Given the description of an element on the screen output the (x, y) to click on. 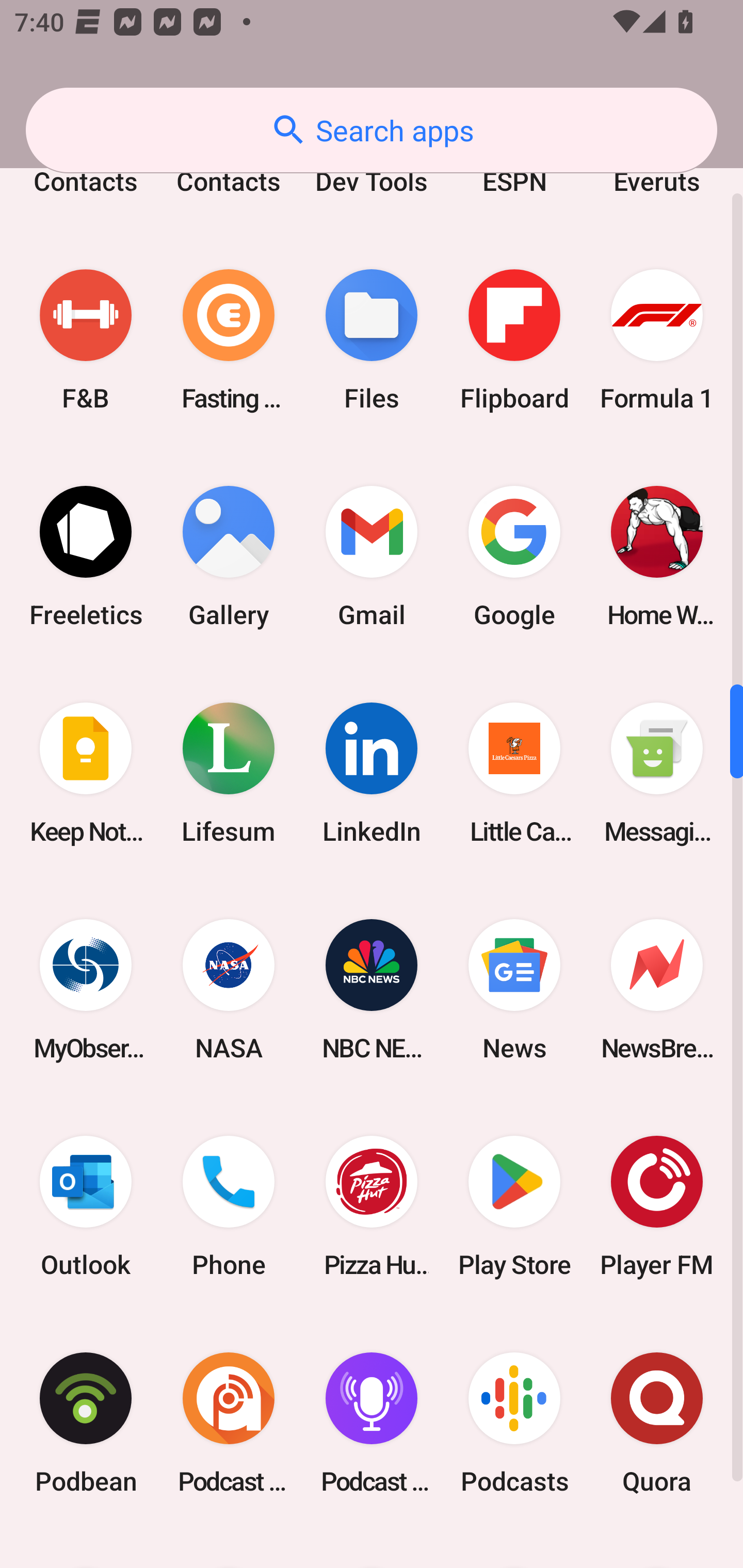
  Search apps (371, 130)
F&B (85, 340)
Fasting Coach (228, 340)
Files (371, 340)
Flipboard (514, 340)
Formula 1 (656, 340)
Freeletics (85, 556)
Gallery (228, 556)
Gmail (371, 556)
Google (514, 556)
Home Workout (656, 556)
Keep Notes (85, 772)
Lifesum (228, 772)
LinkedIn (371, 772)
Little Caesars Pizza (514, 772)
Messaging (656, 772)
MyObservatory (85, 989)
NASA (228, 989)
NBC NEWS (371, 989)
News (514, 989)
NewsBreak (656, 989)
Outlook (85, 1205)
Phone (228, 1205)
Pizza Hut HK & Macau (371, 1205)
Play Store (514, 1205)
Player FM (656, 1205)
Podbean (85, 1422)
Podcast Addict (228, 1422)
Podcast Player (371, 1422)
Podcasts (514, 1422)
Quora (656, 1422)
